Given the description of an element on the screen output the (x, y) to click on. 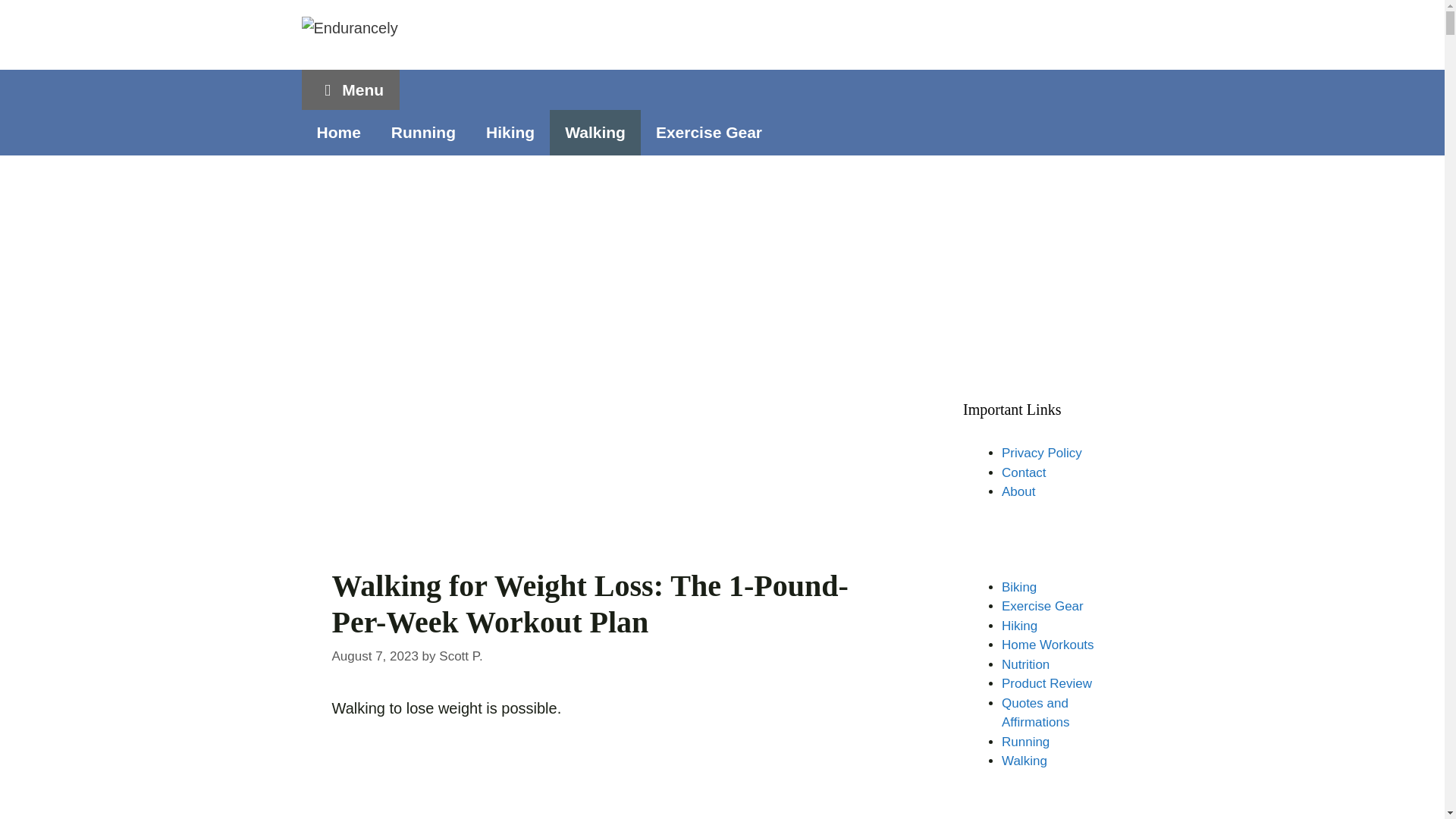
Home (338, 132)
View all posts by Scott P. (460, 656)
Walking (595, 132)
Exercise Gear (708, 132)
Menu (350, 89)
Scott P. (460, 656)
Running (422, 132)
Hiking (510, 132)
